Given the description of an element on the screen output the (x, y) to click on. 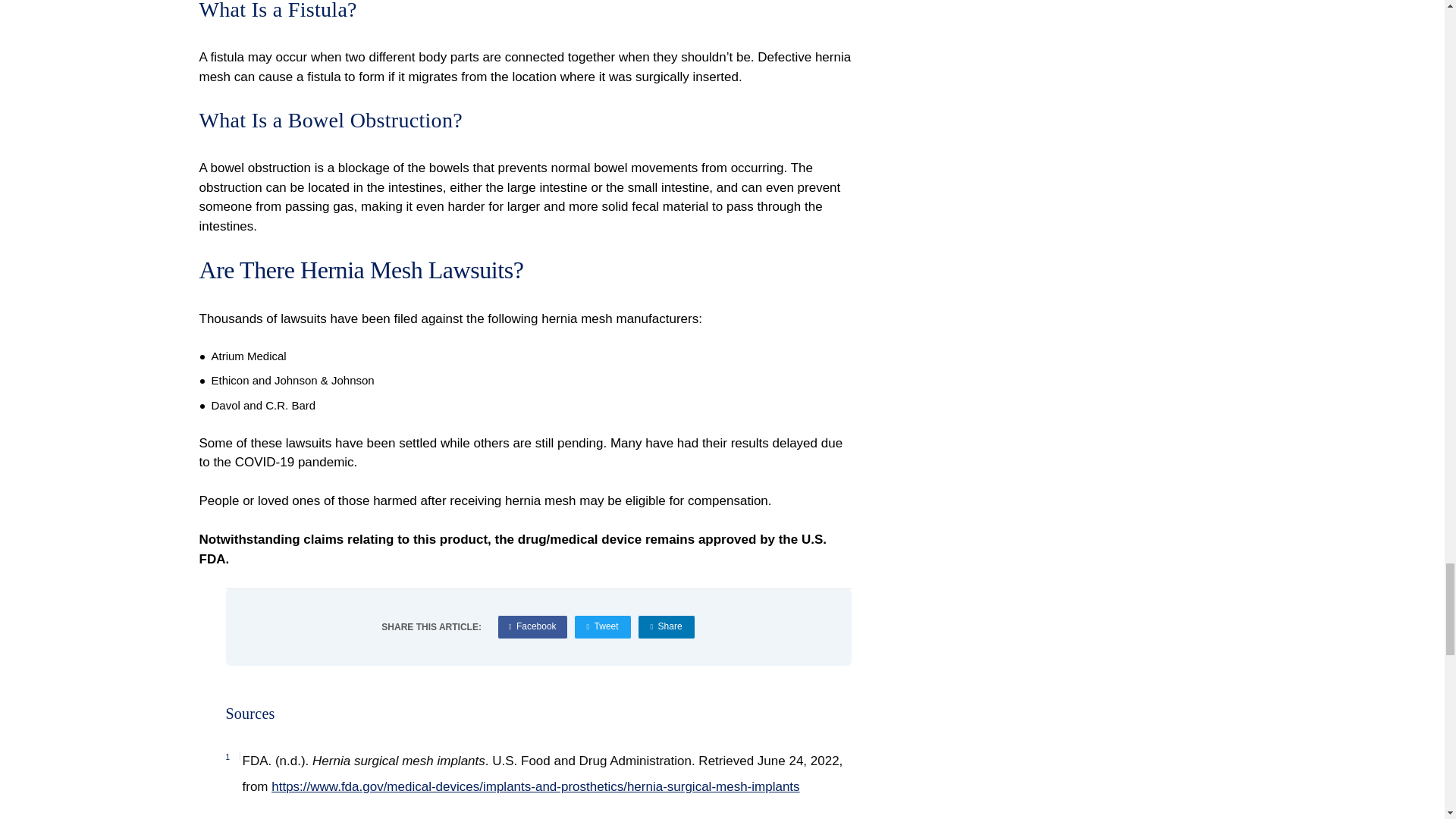
Tweet (602, 627)
Facebook (532, 627)
Share (666, 627)
